Given the description of an element on the screen output the (x, y) to click on. 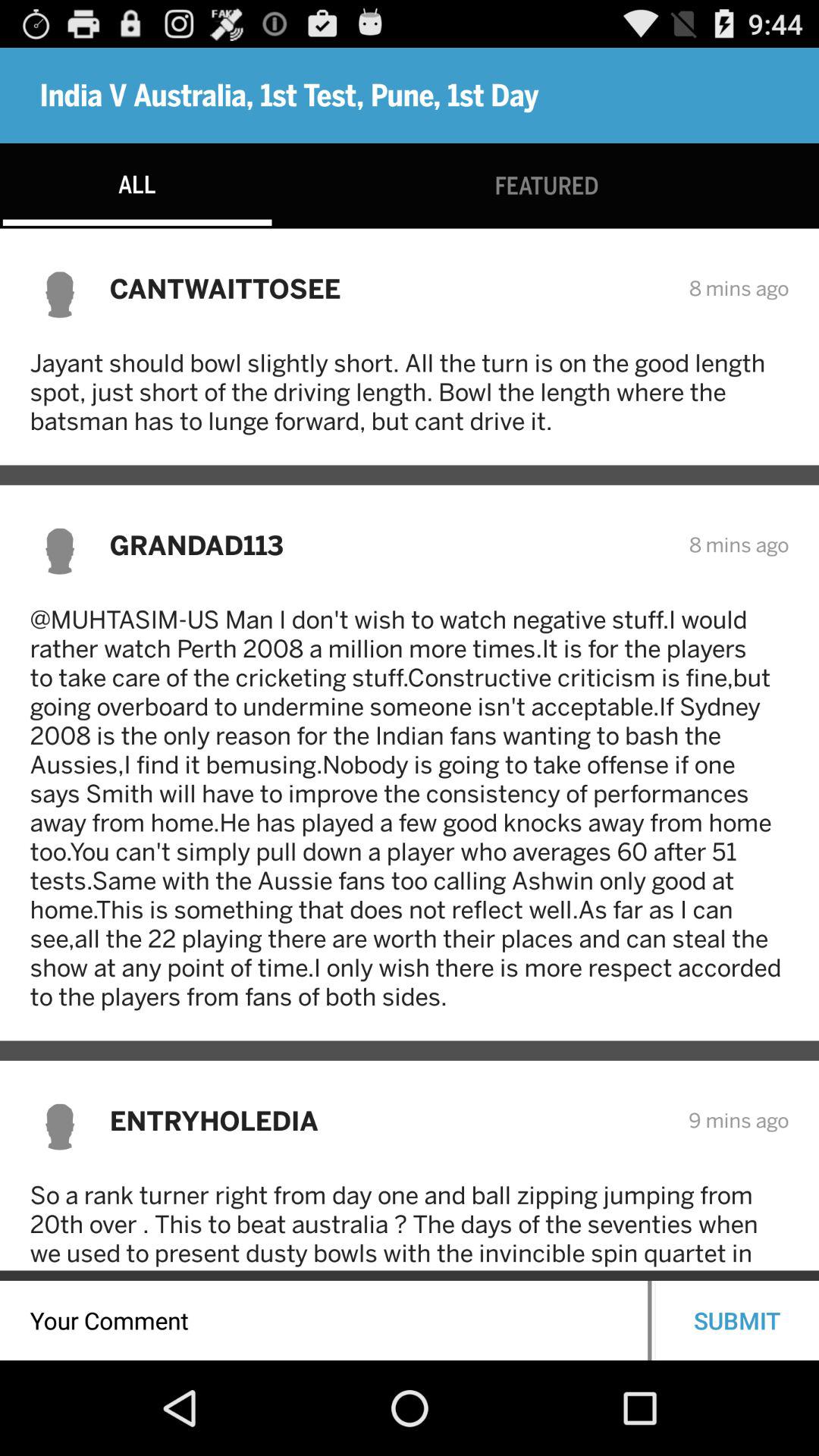
turn on the muhtasim us man icon (409, 807)
